Given the description of an element on the screen output the (x, y) to click on. 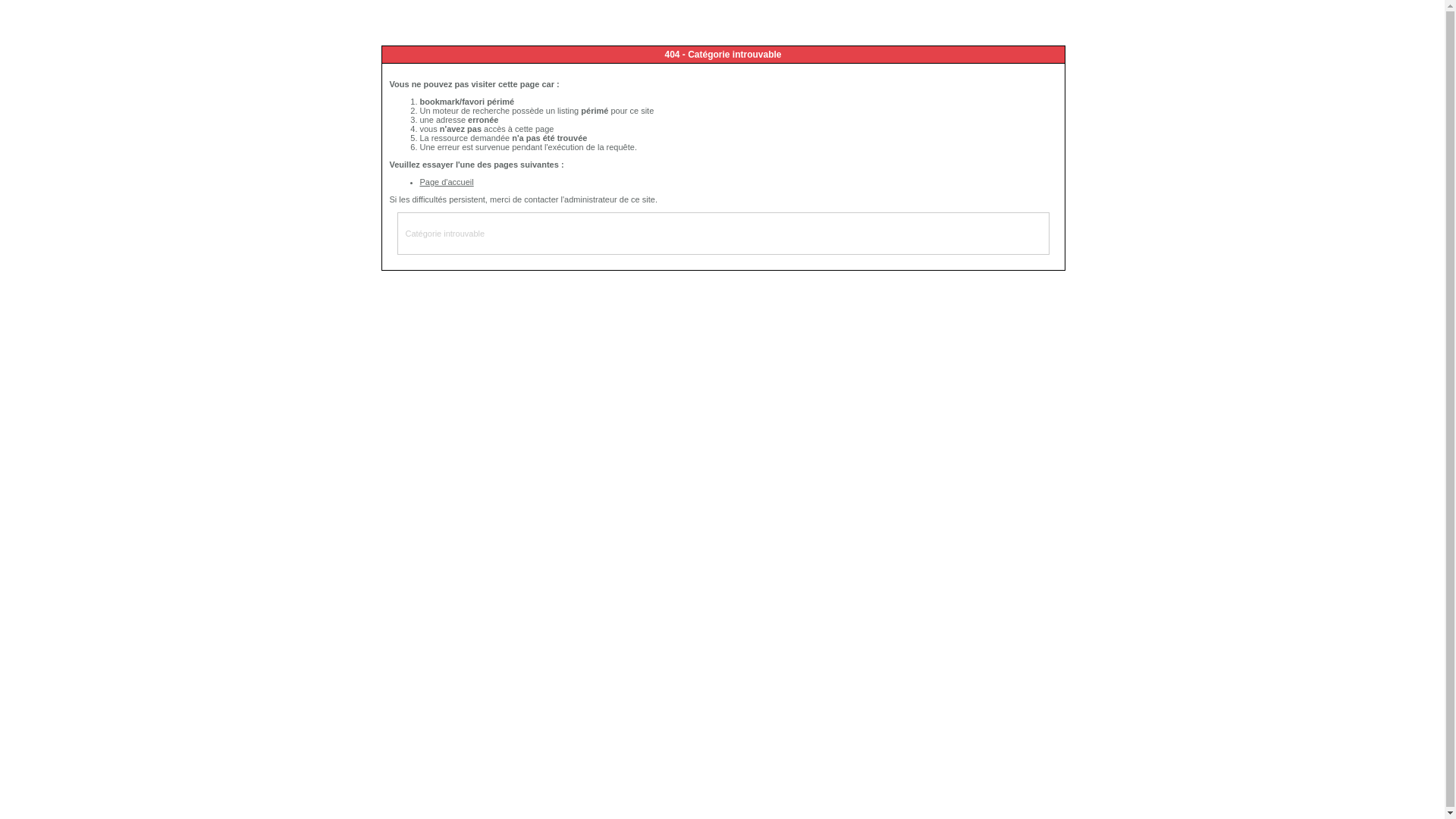
Page d'accueil Element type: text (446, 181)
